Given the description of an element on the screen output the (x, y) to click on. 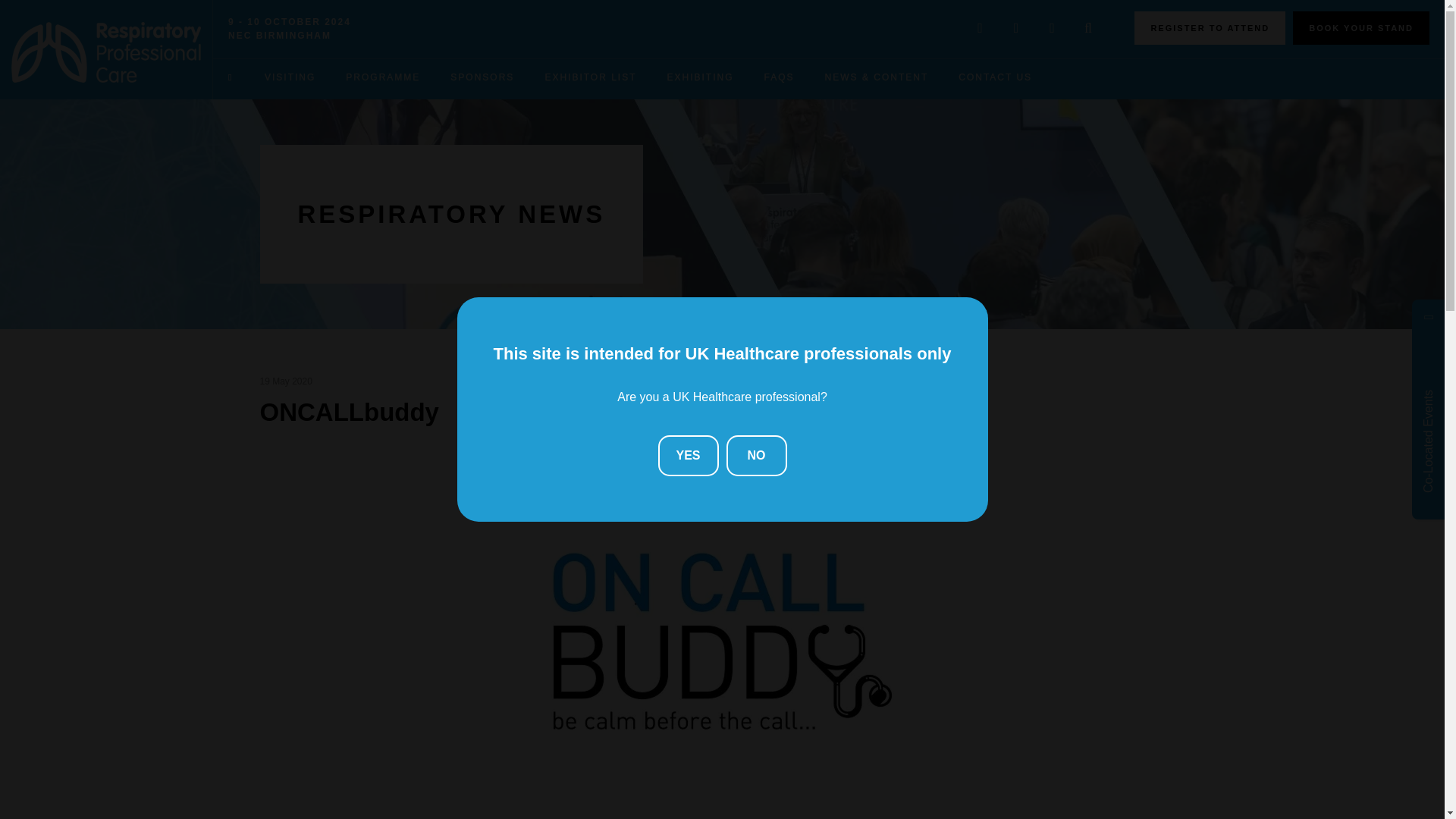
BOOK YOUR STAND (1360, 28)
Search (1087, 29)
Facebook (1016, 29)
REGISTER TO ATTEND (1209, 28)
LinkedIn (1051, 29)
Twitter (979, 29)
YES (688, 454)
NO (756, 454)
